Given the description of an element on the screen output the (x, y) to click on. 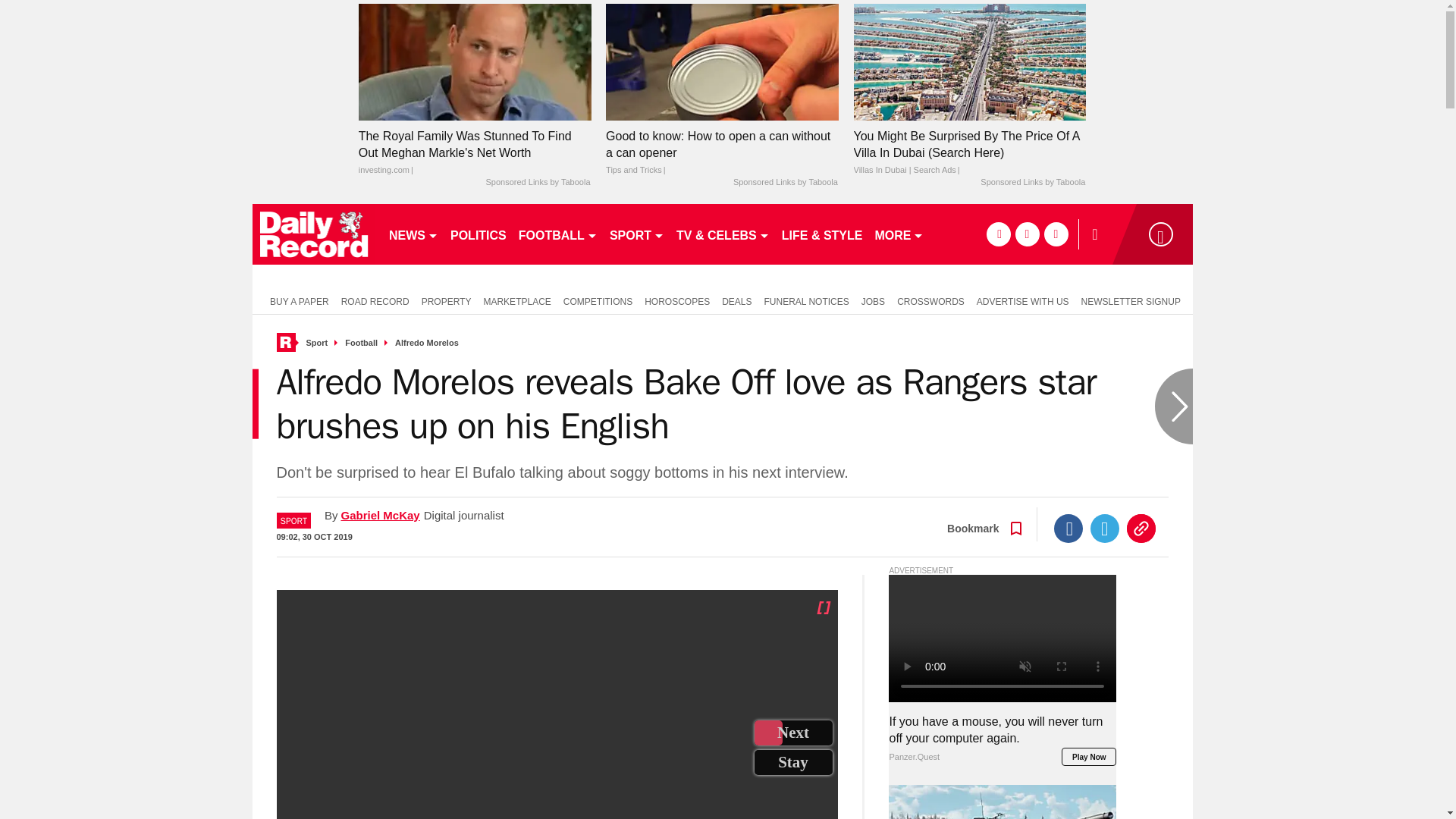
FOOTBALL (558, 233)
Good to know: How to open a can without a can opener (721, 152)
instagram (1055, 233)
dailyrecord (313, 233)
Sponsored Links by Taboola (785, 182)
Sponsored Links by Taboola (1031, 182)
Twitter (1104, 528)
twitter (1026, 233)
Facebook (1068, 528)
facebook (997, 233)
Sponsored Links by Taboola (536, 182)
POLITICS (478, 233)
NEWS (413, 233)
